Given the description of an element on the screen output the (x, y) to click on. 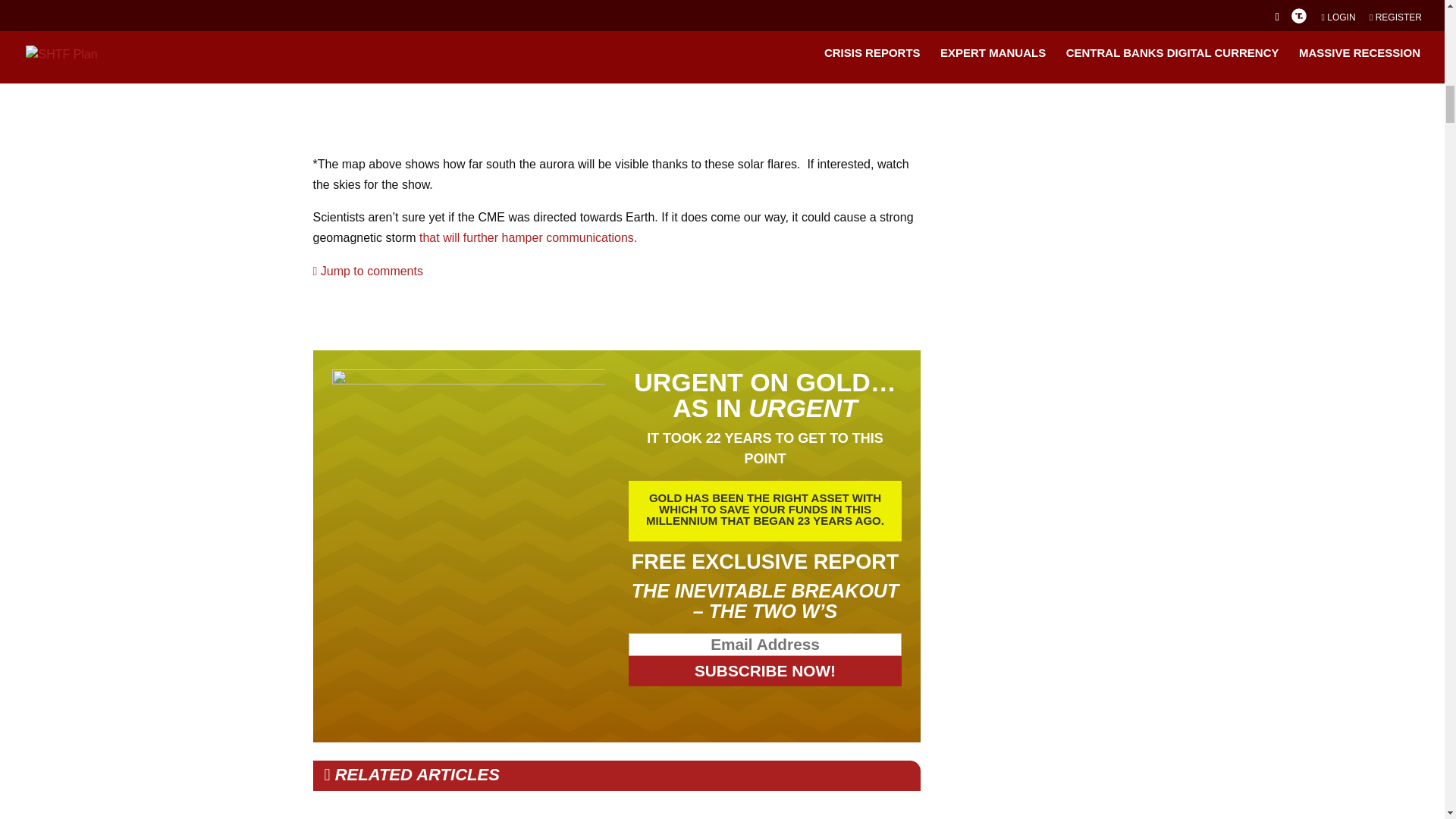
Jump to comments (367, 270)
Subscribe Now! (765, 671)
that will further hamper communications. (526, 237)
Subscribe Now! (765, 671)
